Given the description of an element on the screen output the (x, y) to click on. 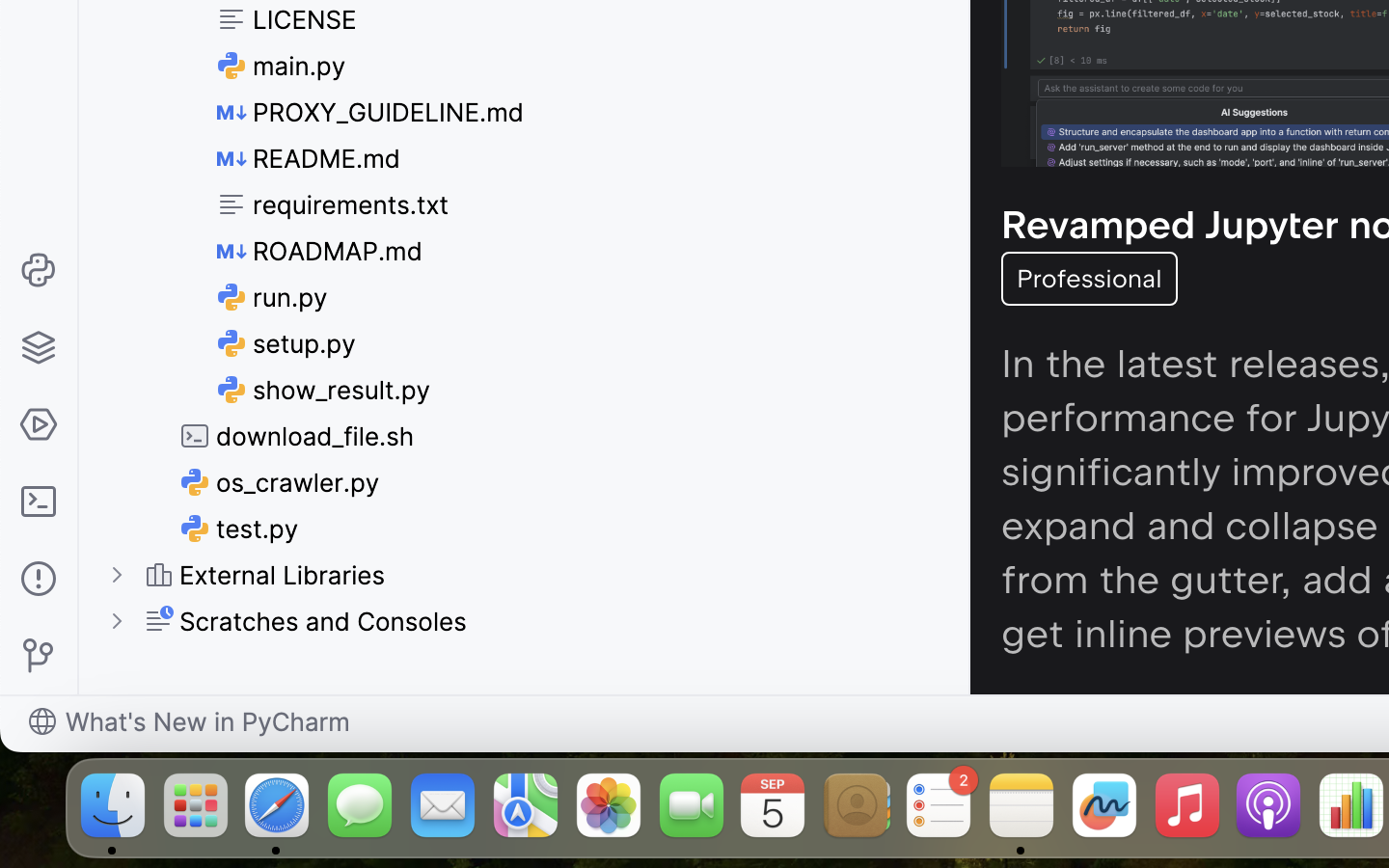
os_crawler.py Element type: AXStaticText (280, 482)
setup.py Element type: AXStaticText (287, 343)
